Given the description of an element on the screen output the (x, y) to click on. 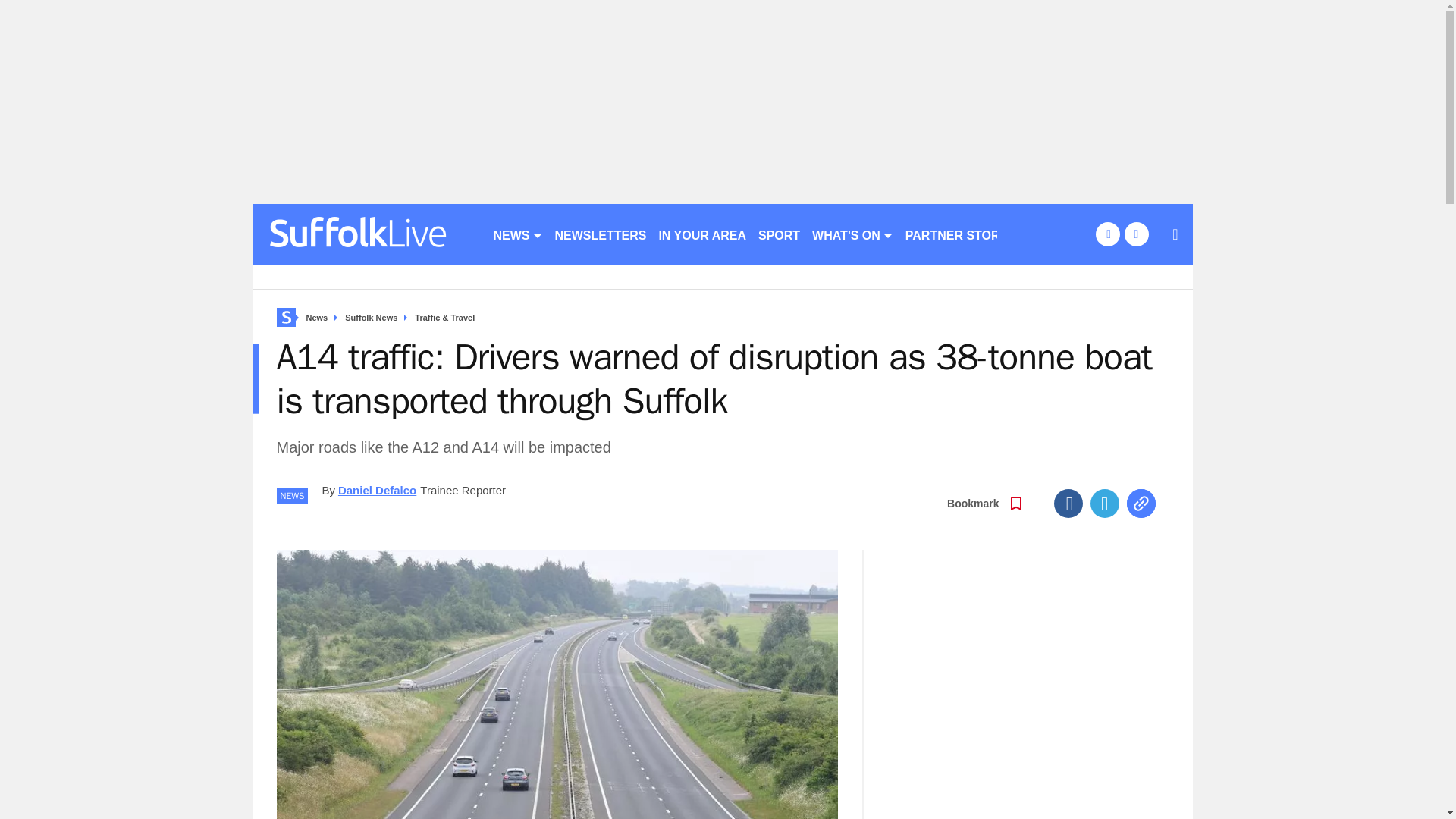
NEWSLETTERS (600, 233)
twitter (1136, 233)
WHAT'S ON (852, 233)
IN YOUR AREA (702, 233)
NEWS (517, 233)
PARTNER STORIES (962, 233)
facebook (1106, 233)
suffolklive (365, 233)
Twitter (1104, 502)
Facebook (1068, 502)
